Given the description of an element on the screen output the (x, y) to click on. 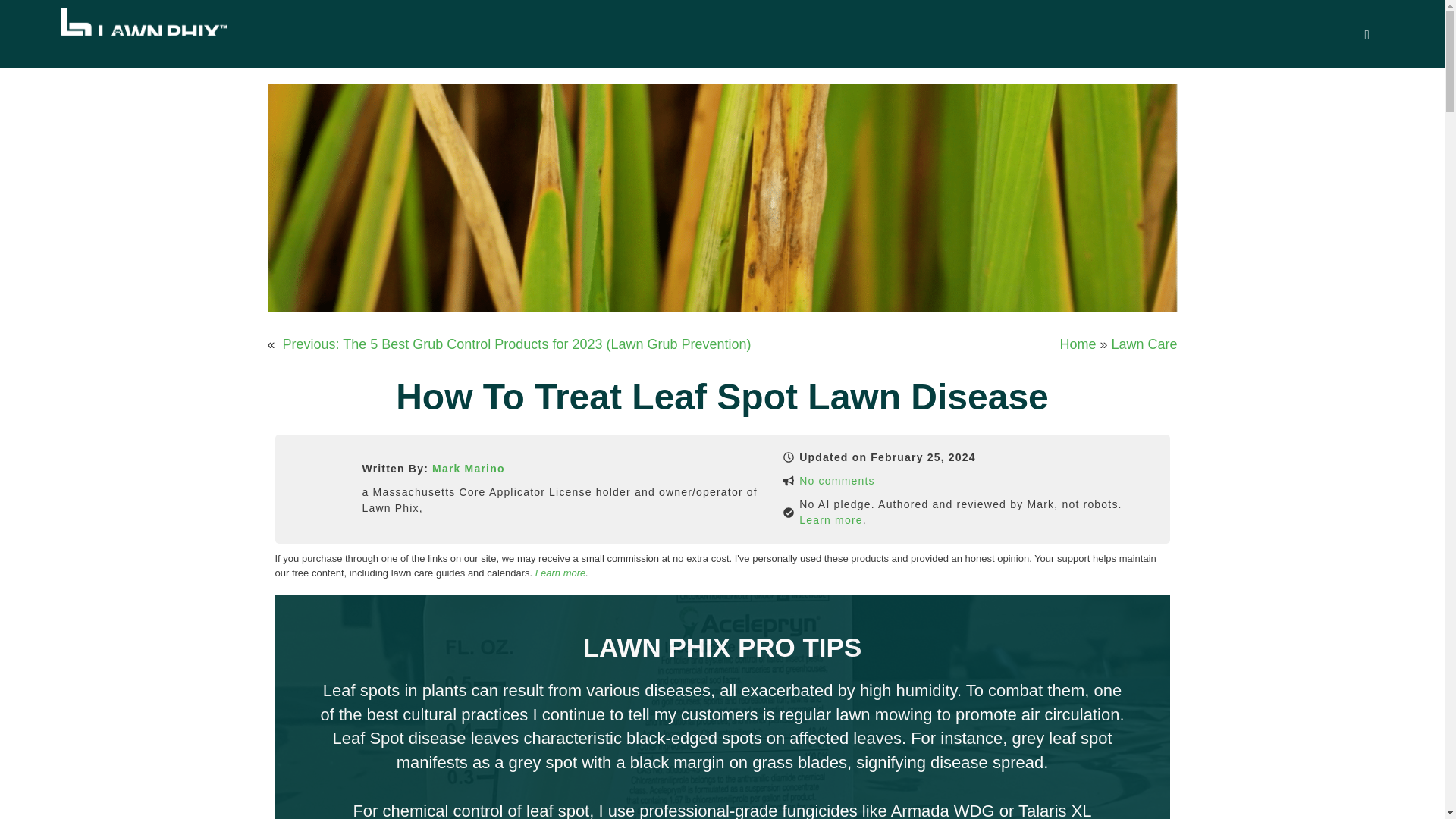
Home (1077, 344)
Lawn Care (1143, 344)
Mark Marino (468, 468)
Learn more (831, 520)
No comments (837, 480)
Learn more (560, 572)
